Given the description of an element on the screen output the (x, y) to click on. 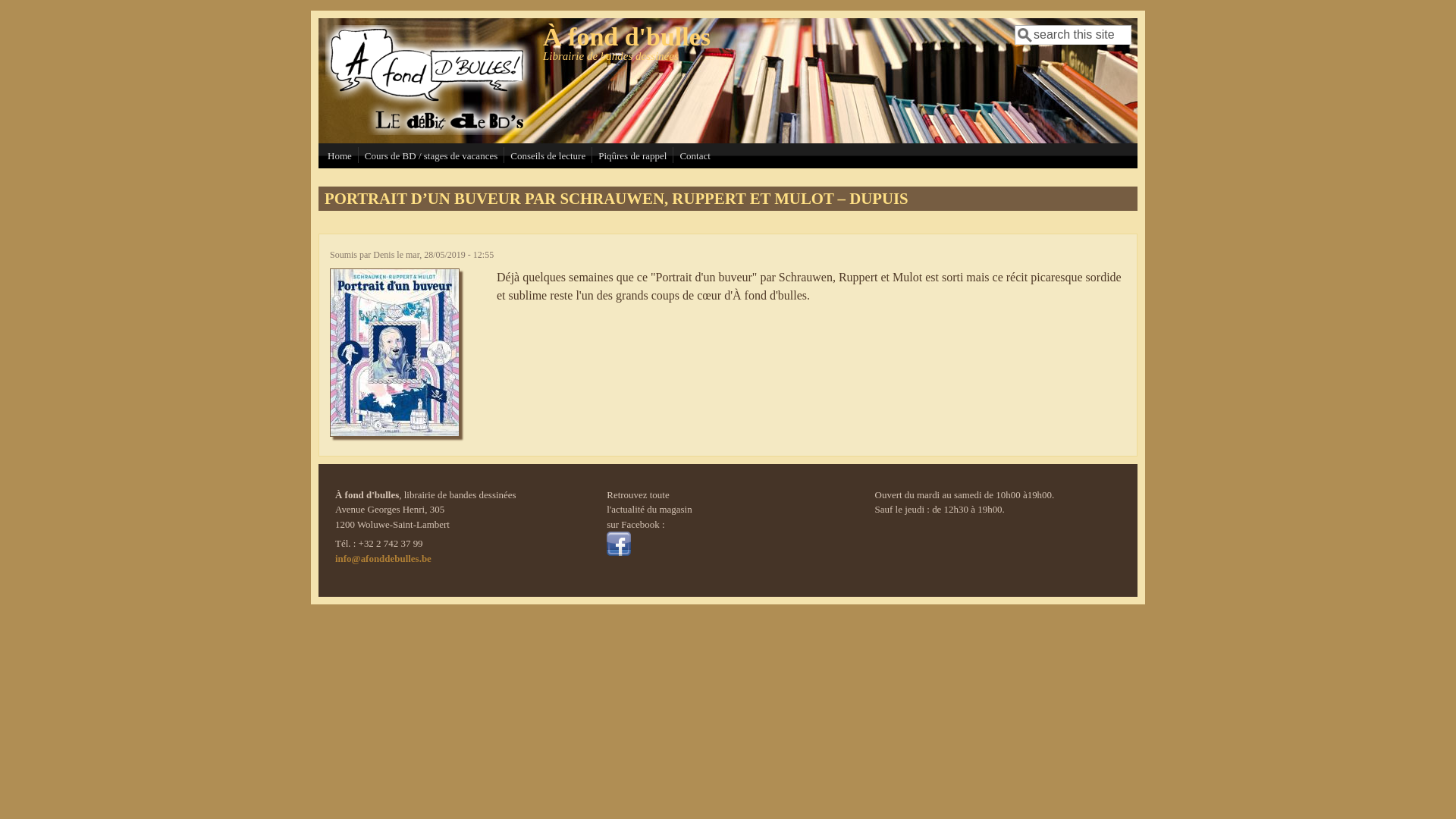
info@afonddebulles.be Element type: text (383, 558)
Home Element type: text (339, 155)
Contact Element type: text (694, 155)
Conseils de lecture Element type: text (547, 155)
Aller au contenu principal Element type: text (63, 10)
Accueil Element type: hover (429, 130)
Cours de BD / stages de vacances Element type: text (430, 155)
